Given the description of an element on the screen output the (x, y) to click on. 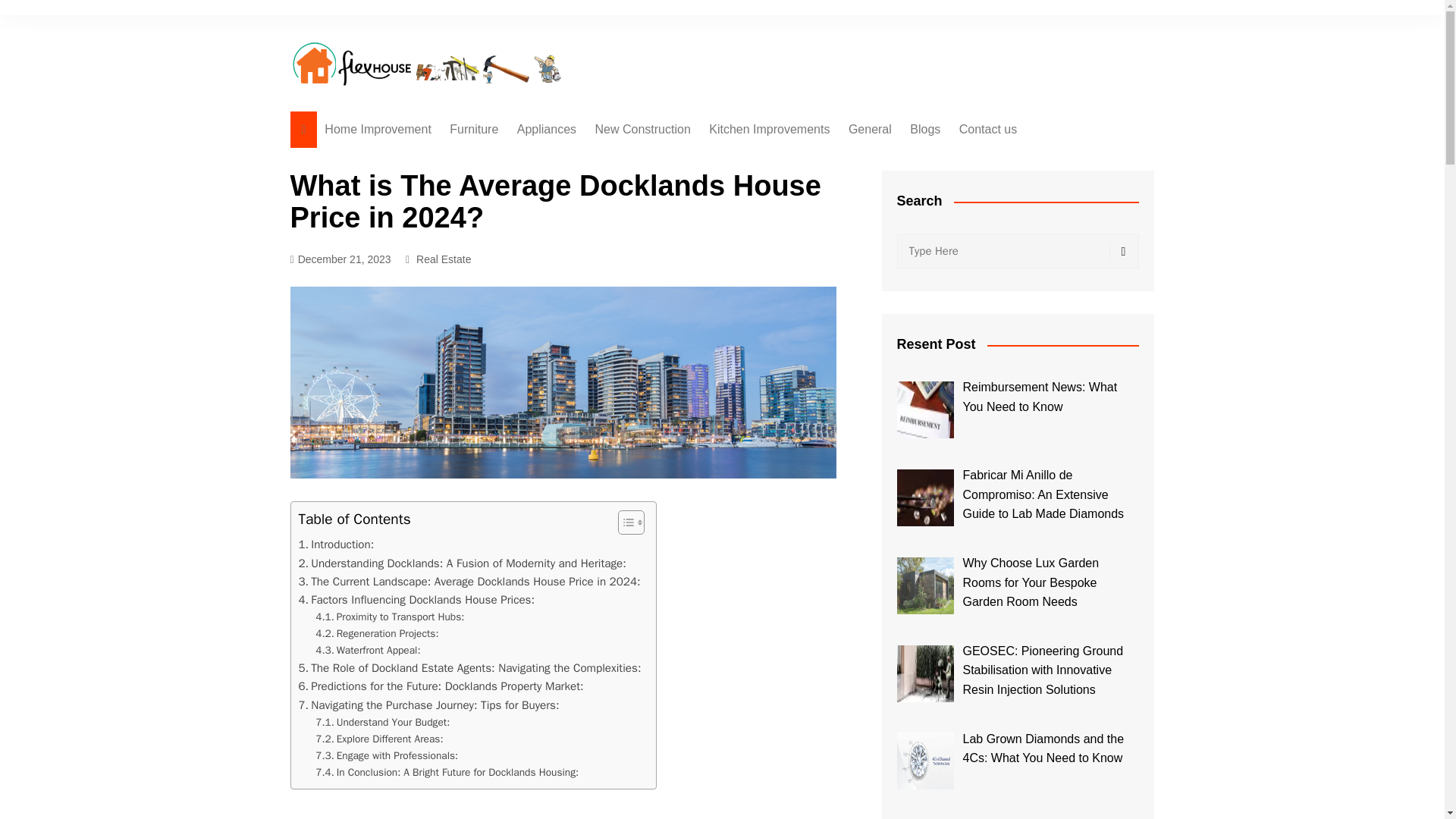
Write for US (1035, 160)
Pest Control (924, 160)
Landscaper (671, 248)
New Construction (643, 129)
Proximity to Transport Hubs: (389, 617)
Contact us (988, 129)
Appliances (546, 129)
Navigating the Purchase Journey: Tips for Buyers: (428, 705)
Understanding Docklands: A Fusion of Modernity and Heritage: (462, 562)
Kitchen Improvements (769, 129)
